Given the description of an element on the screen output the (x, y) to click on. 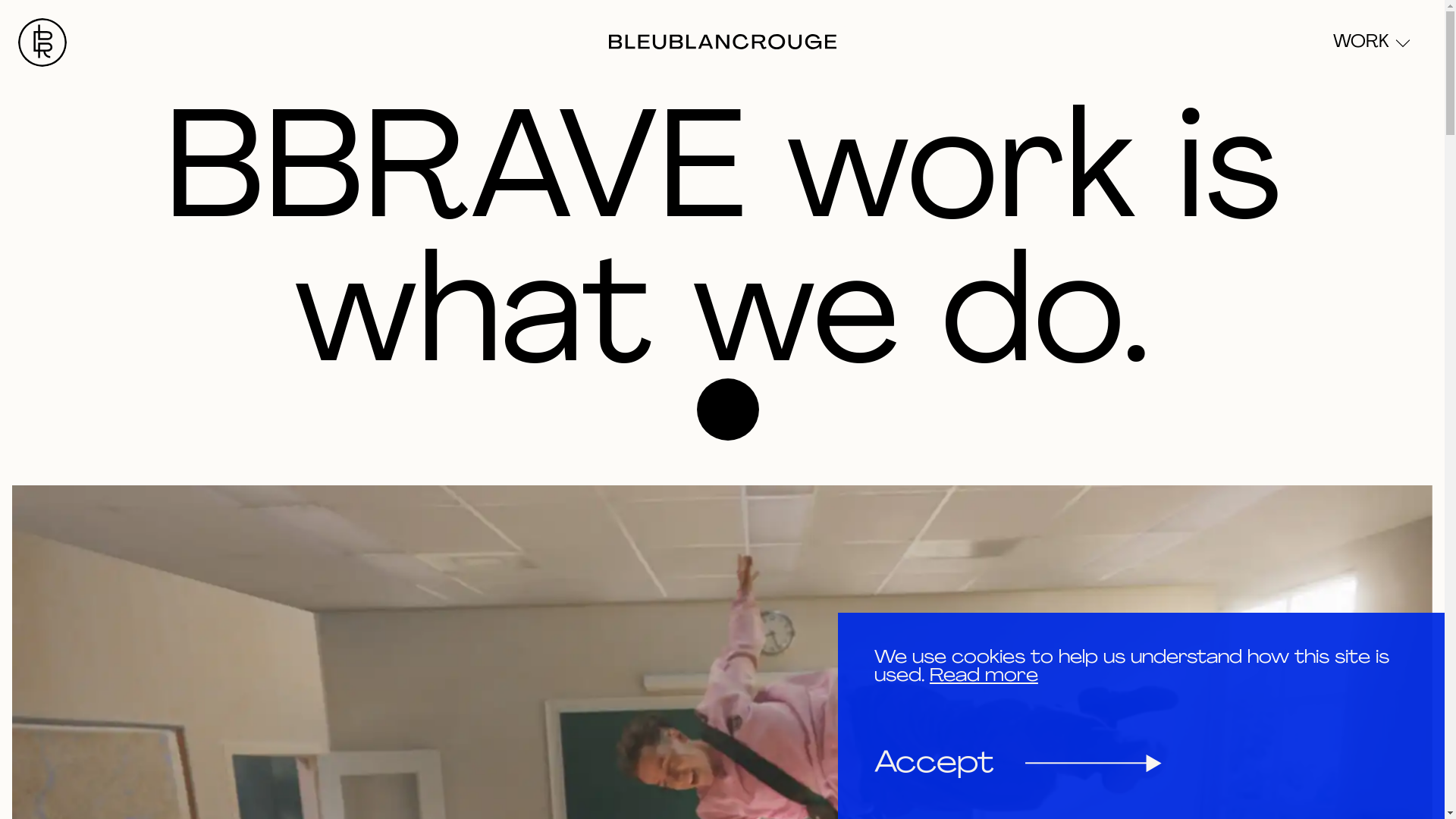
Accept Element type: text (1017, 764)
WORK Element type: text (1370, 42)
Read more Element type: text (983, 676)
